Given the description of an element on the screen output the (x, y) to click on. 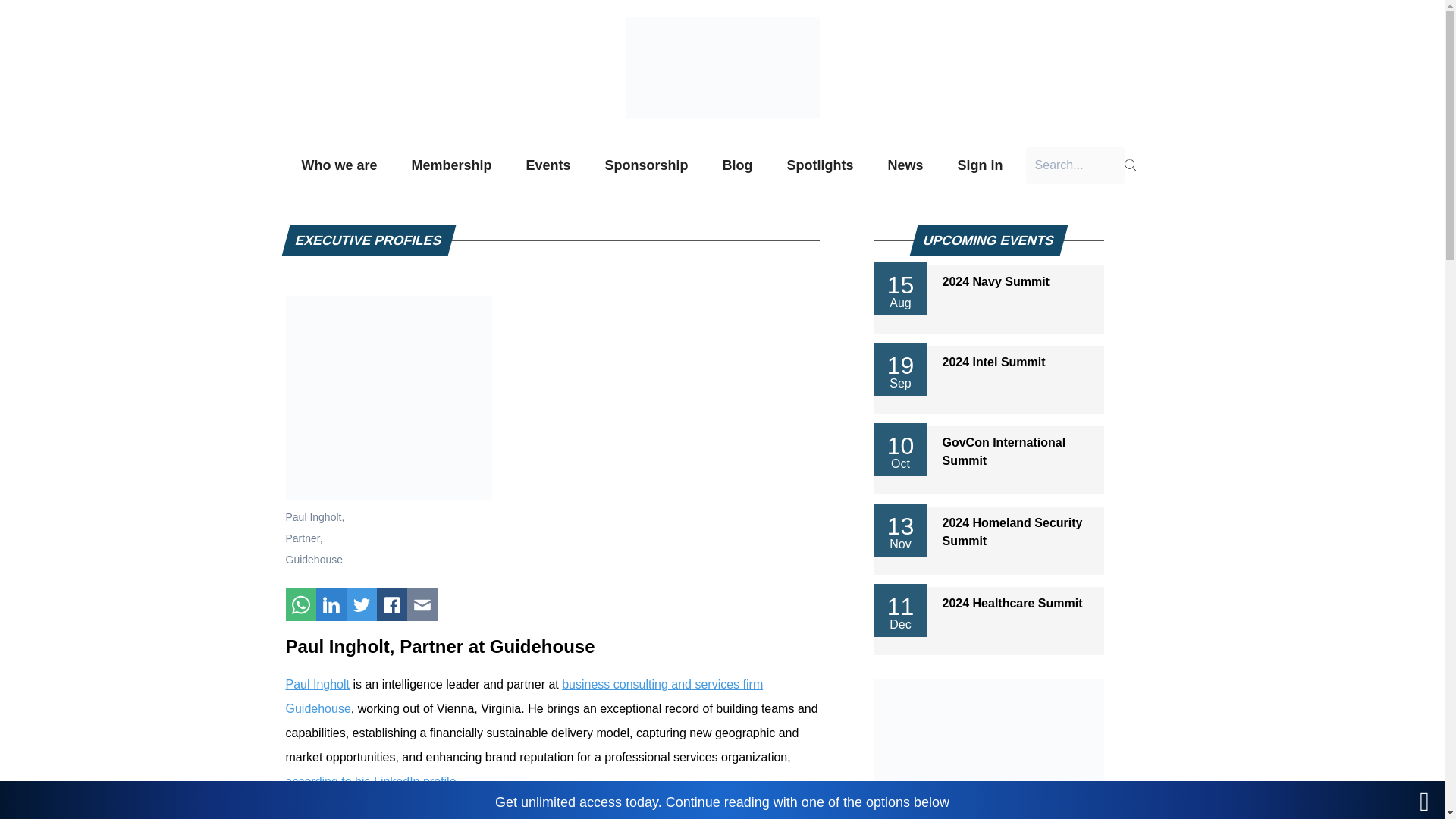
Membership (450, 164)
Blog (737, 164)
News (905, 164)
Paul Ingholt (317, 684)
Who we are (338, 164)
Sign in (980, 164)
Sponsorship (647, 164)
according to his LinkedIn profile (370, 780)
Spotlights (820, 164)
Events (546, 164)
business consulting and services firm Guidehouse (523, 696)
